Given the description of an element on the screen output the (x, y) to click on. 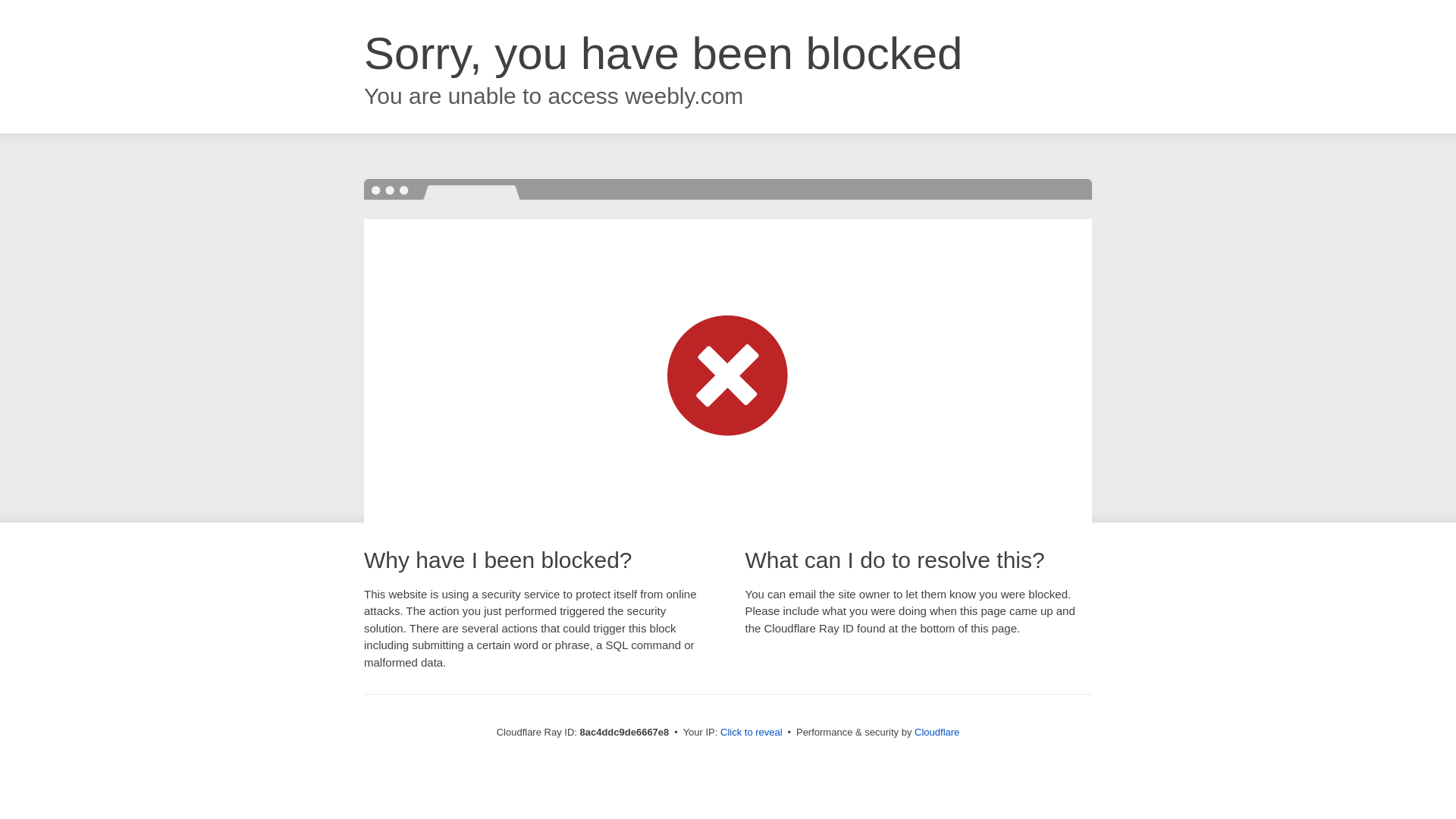
Click to reveal (751, 732)
Cloudflare (936, 731)
